Given the description of an element on the screen output the (x, y) to click on. 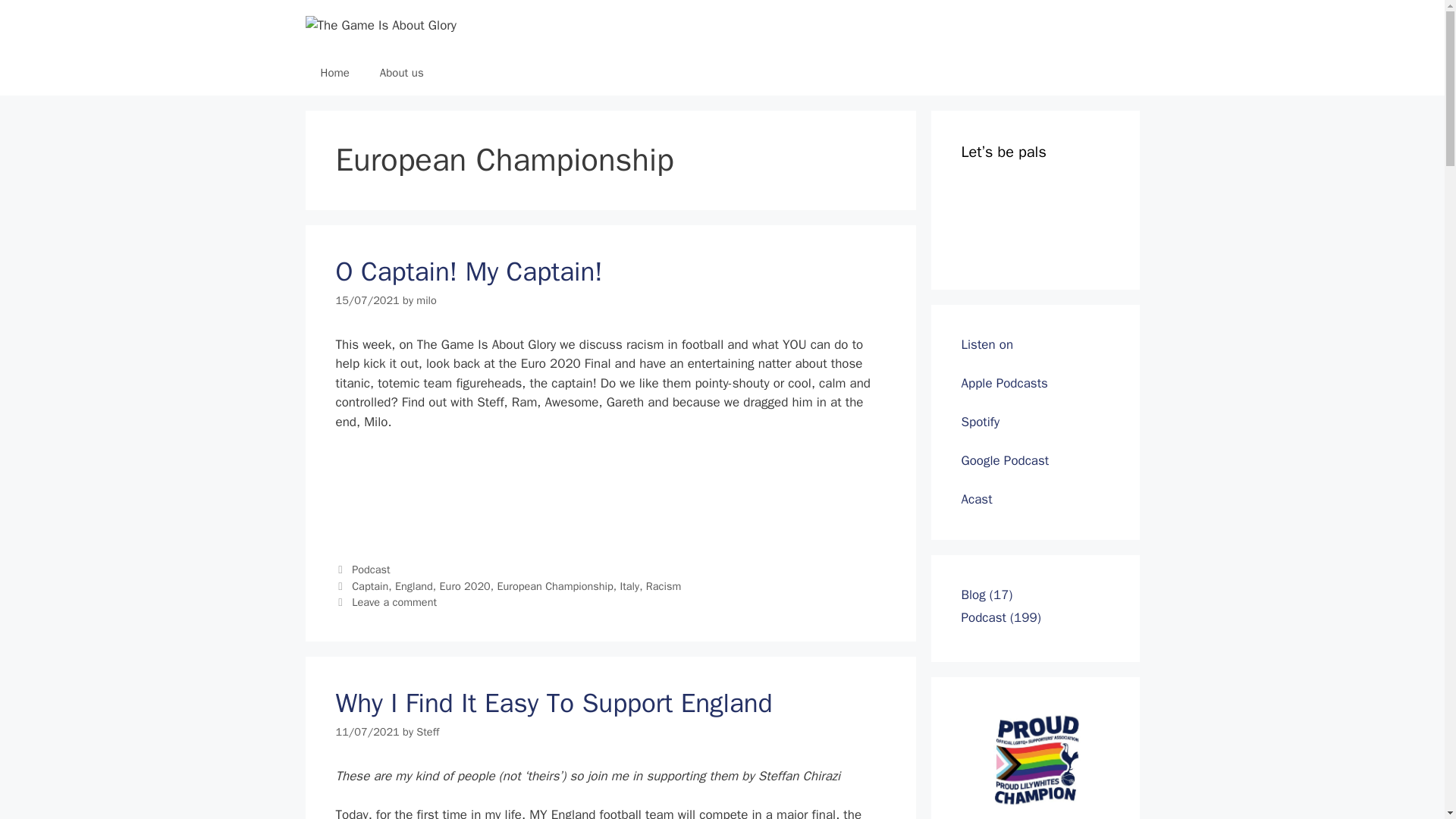
Italy (629, 585)
Euro 2020 (464, 585)
Home (334, 72)
Podcast (371, 569)
Captain (370, 585)
European Championship (554, 585)
O Captain! My Captain! (468, 271)
View all posts by milo (426, 300)
milo (426, 300)
Leave a comment (394, 602)
Racism (663, 585)
Steff (427, 731)
England (413, 585)
About us (402, 72)
View all posts by Steff (427, 731)
